Given the description of an element on the screen output the (x, y) to click on. 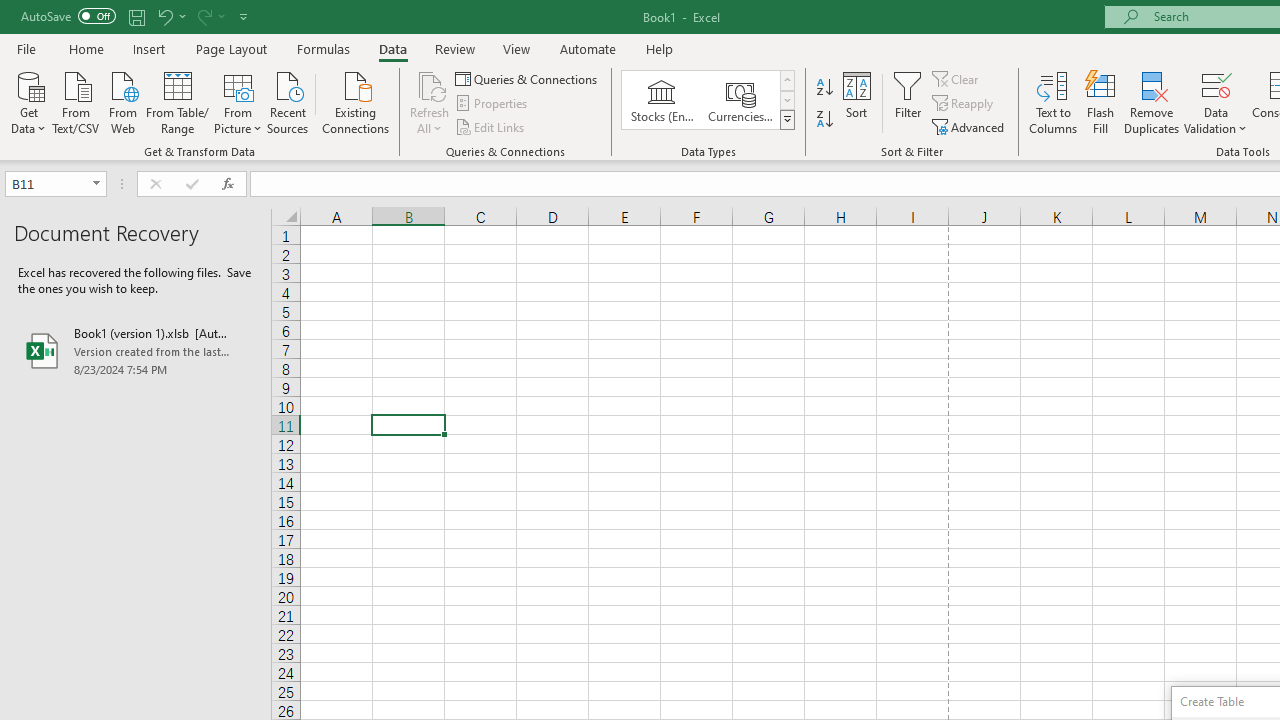
Properties (492, 103)
Existing Connections (355, 101)
From Table/Range (177, 101)
Flash Fill (1101, 102)
Row up (786, 79)
Name Box (46, 183)
Advanced... (970, 126)
More Options (1215, 121)
Undo (170, 15)
Refresh All (429, 84)
Name Box (56, 183)
Undo (164, 15)
Redo (209, 15)
Customize Quick Access Toolbar (244, 15)
Row Down (786, 100)
